Given the description of an element on the screen output the (x, y) to click on. 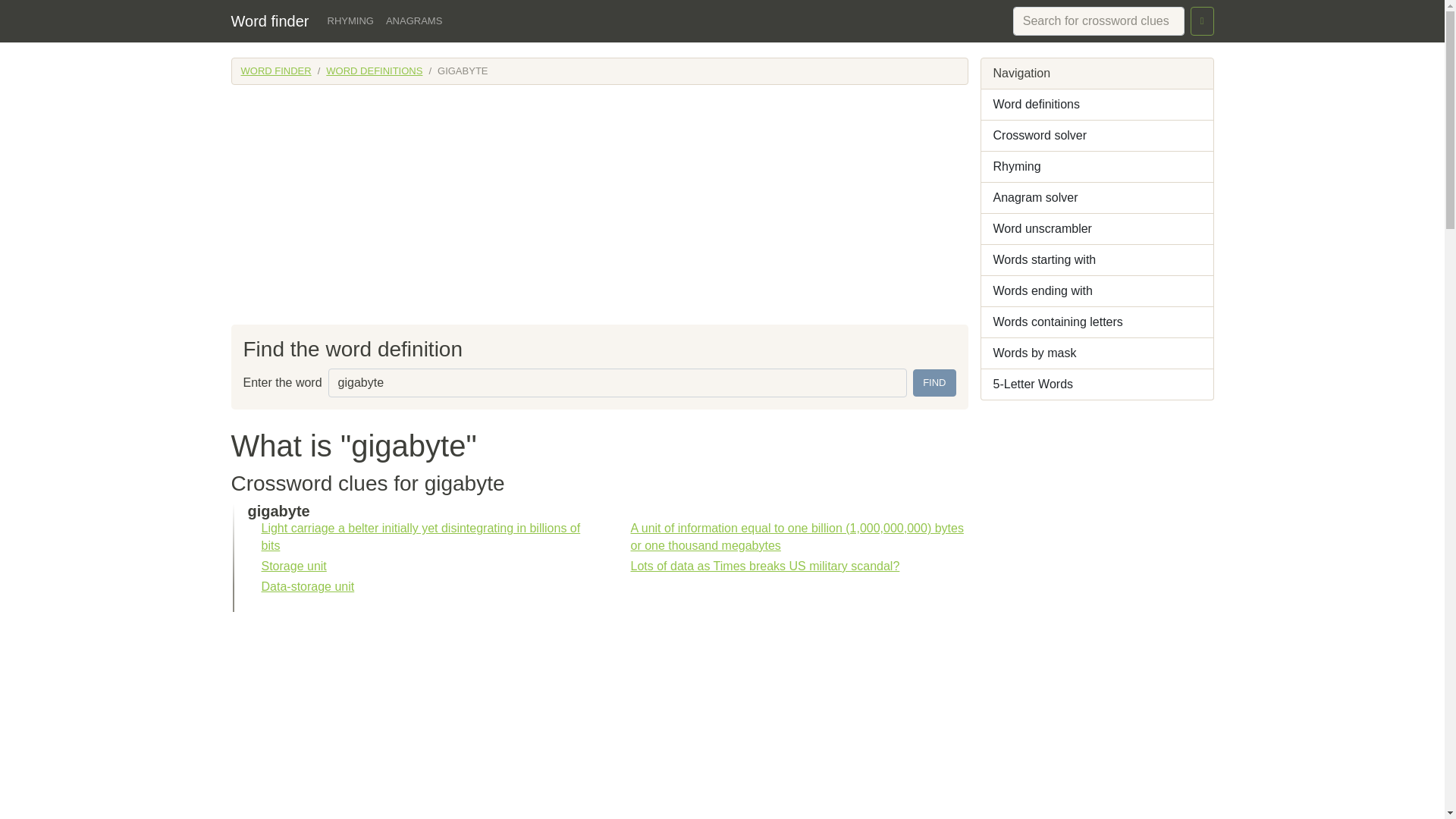
FIND (933, 382)
RHYMING (350, 21)
gigabyte (618, 382)
Crossword solver (1095, 135)
Storage unit (293, 565)
Word finder (269, 20)
Anagram solver (1095, 197)
WORD FINDER (276, 70)
Word unscrambler (1095, 228)
Data-storage unit (306, 585)
SEARCH (1202, 21)
Lots of data as Times breaks US military scandal? (764, 565)
WORD DEFINITIONS (374, 70)
Rhyming (1095, 166)
ANAGRAMS (414, 21)
